Given the description of an element on the screen output the (x, y) to click on. 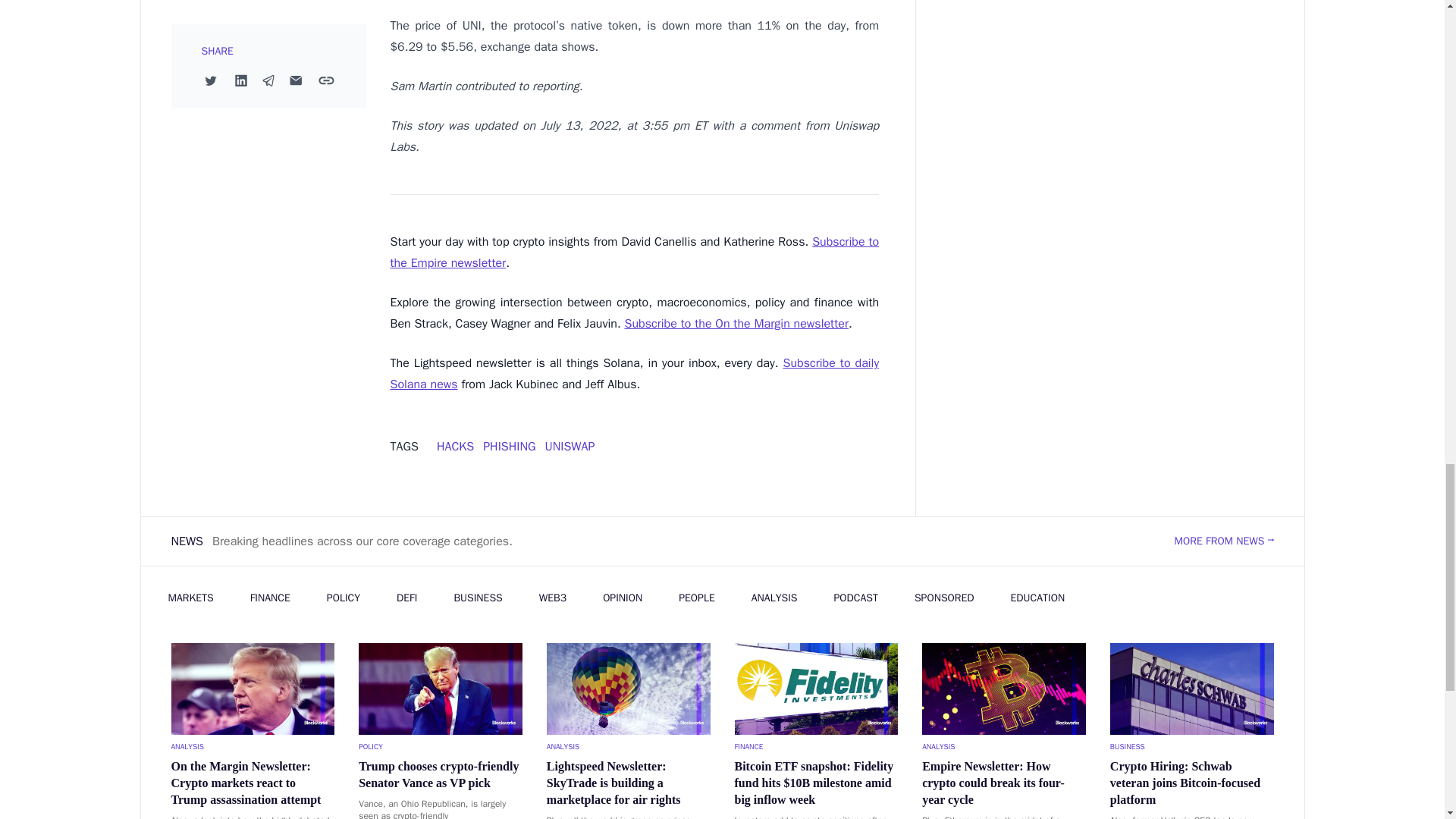
POLICY (440, 746)
ANALYSIS (252, 746)
ANALYSIS (1003, 746)
FINANCE (815, 746)
BUSINESS (1191, 746)
ANALYSIS (628, 746)
